Given the description of an element on the screen output the (x, y) to click on. 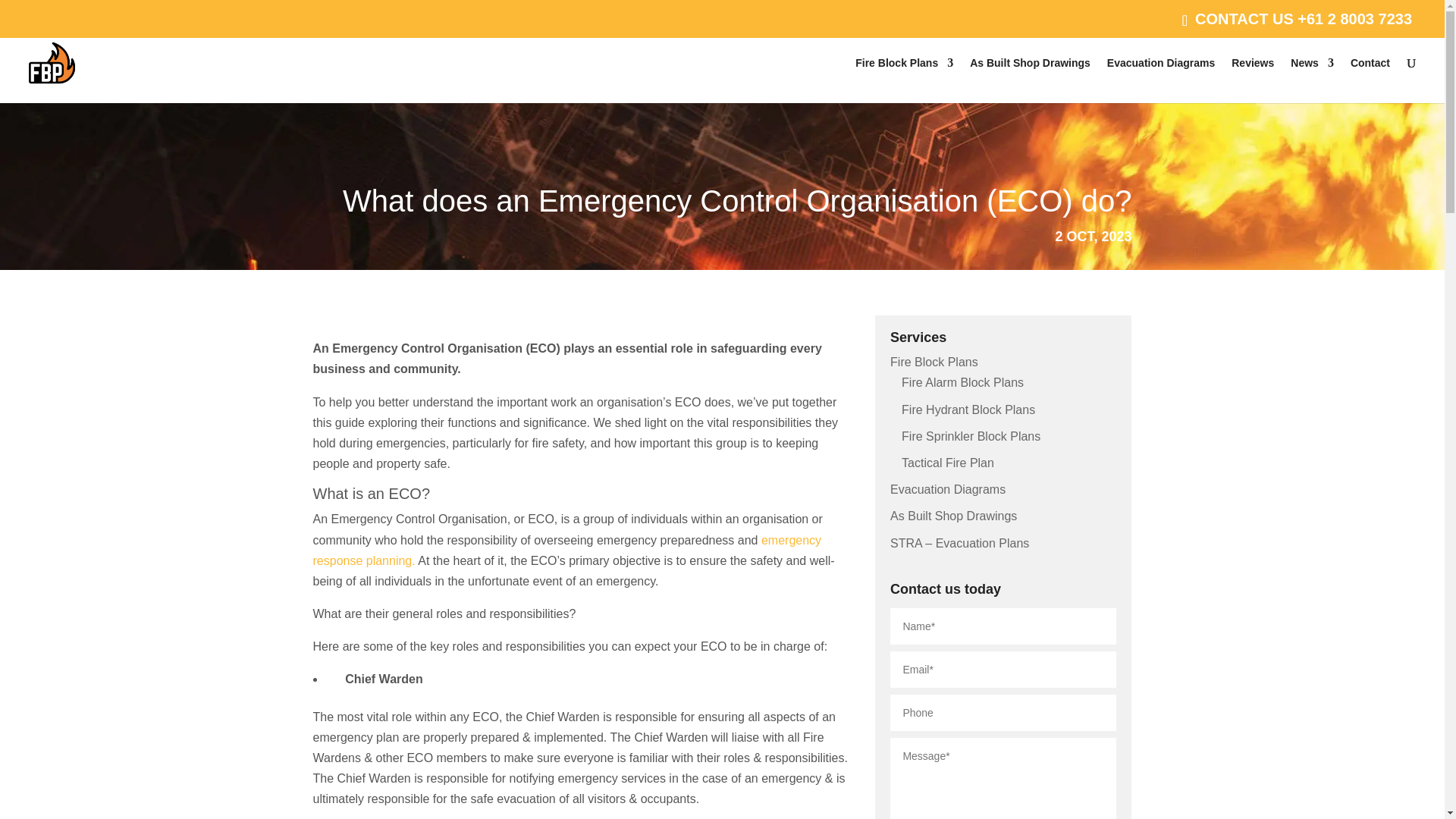
Fire Sprinkler Block Plans (971, 436)
Tactical Fire Plan (947, 462)
emergency response planning. (567, 550)
Evacuation Diagrams (1160, 79)
Fire Hydrant Block Plans (968, 409)
Fire Block Plans (933, 361)
Reviews (1252, 79)
Fire Alarm Block Plans (962, 382)
As Built Shop Drawings (952, 515)
Evacuation Diagrams (947, 489)
News (1311, 79)
Fire Block Plans (904, 79)
As Built Shop Drawings (1029, 79)
